Given the description of an element on the screen output the (x, y) to click on. 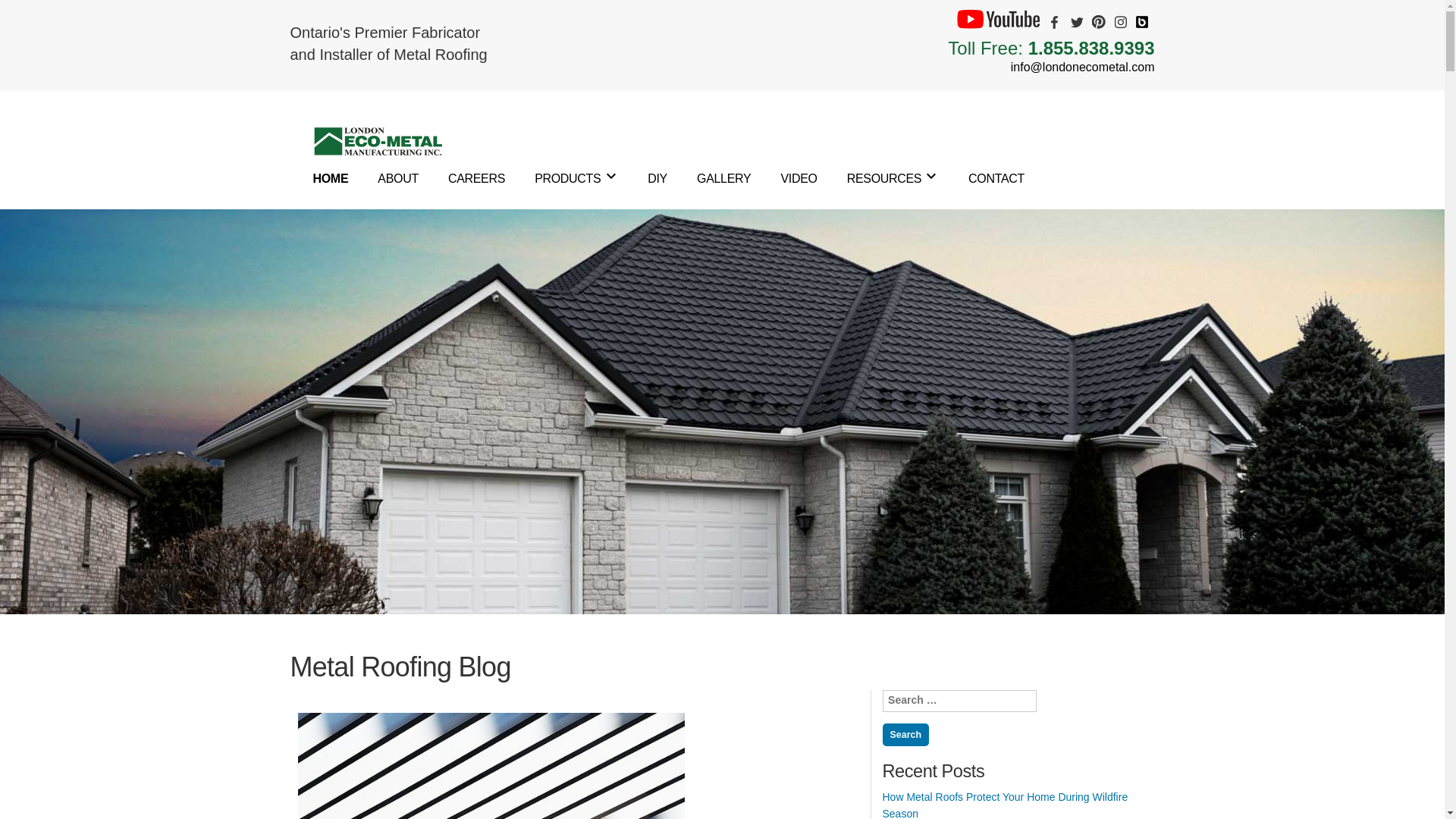
CONTACT (996, 178)
ABOUT (398, 178)
GALLERY (724, 178)
Search (906, 734)
DIY (656, 178)
1.855.838.9393 (1090, 47)
Search (906, 734)
PRODUCTS (566, 178)
CAREERS (476, 178)
VIDEO (798, 178)
